Given the description of an element on the screen output the (x, y) to click on. 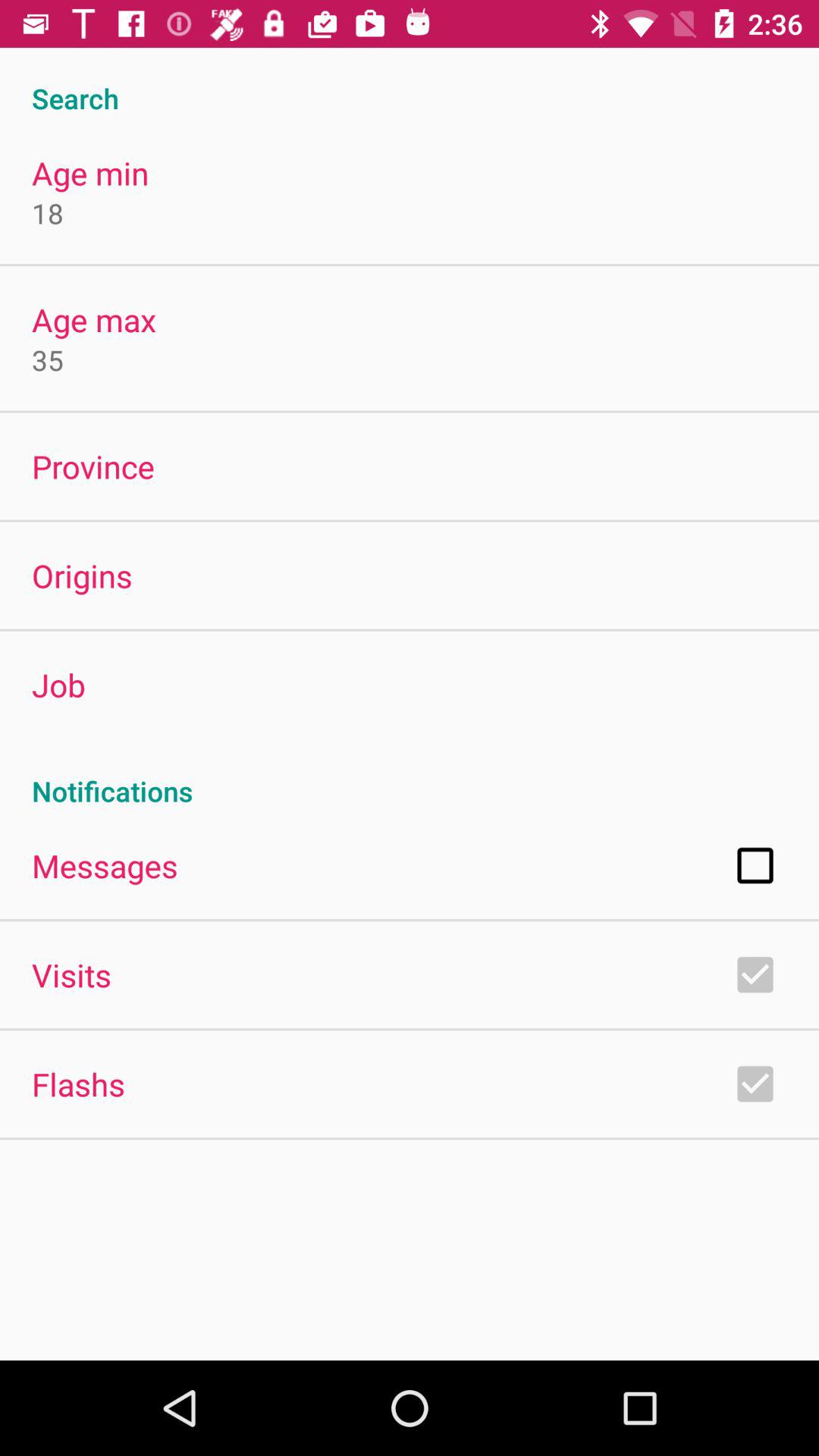
press app below notifications app (104, 865)
